Given the description of an element on the screen output the (x, y) to click on. 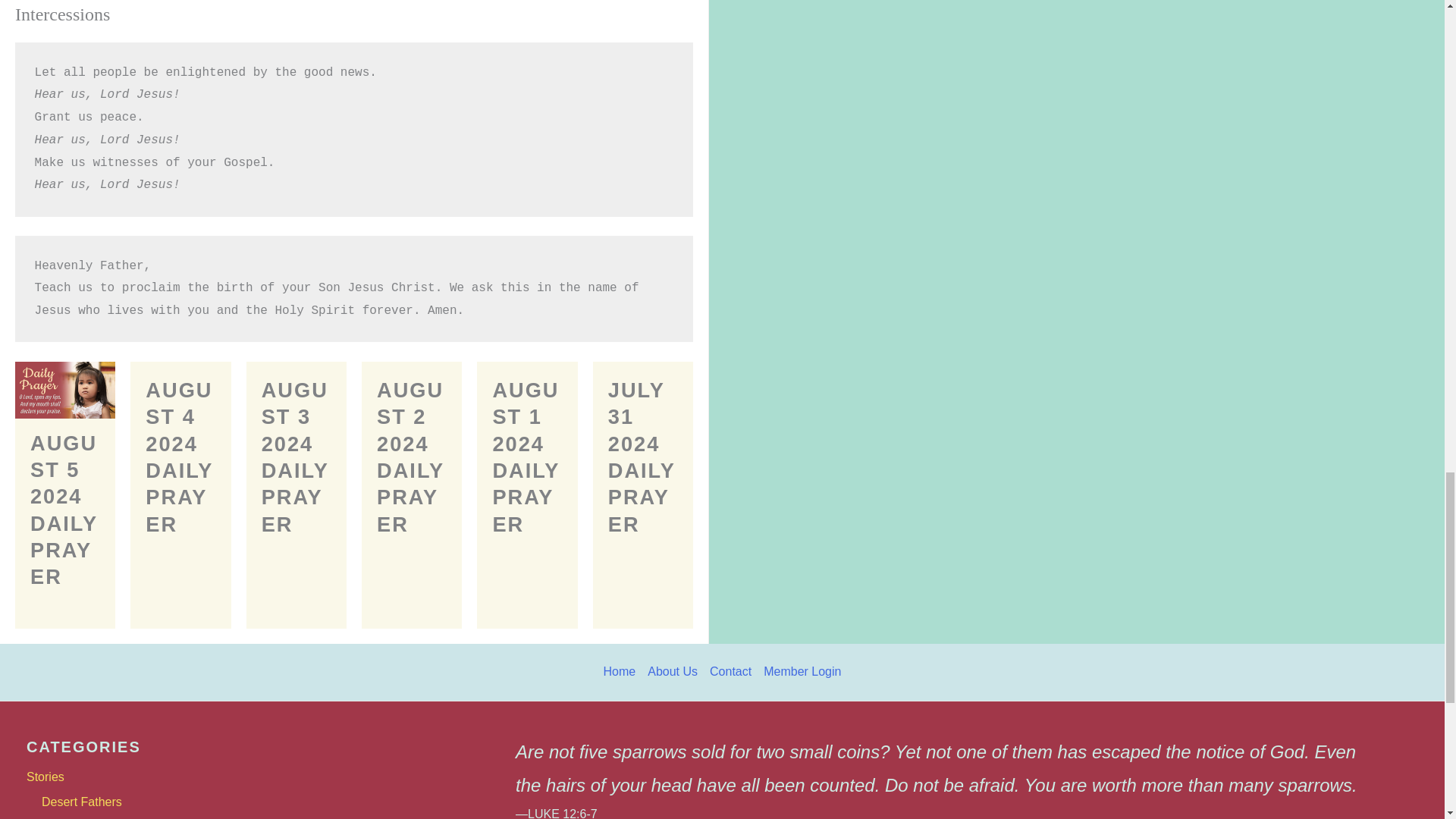
AUGUST 4 2024 DAILY PRAYER (178, 457)
AUGUST 5 2024 DAILY PRAYER (63, 509)
